Given the description of an element on the screen output the (x, y) to click on. 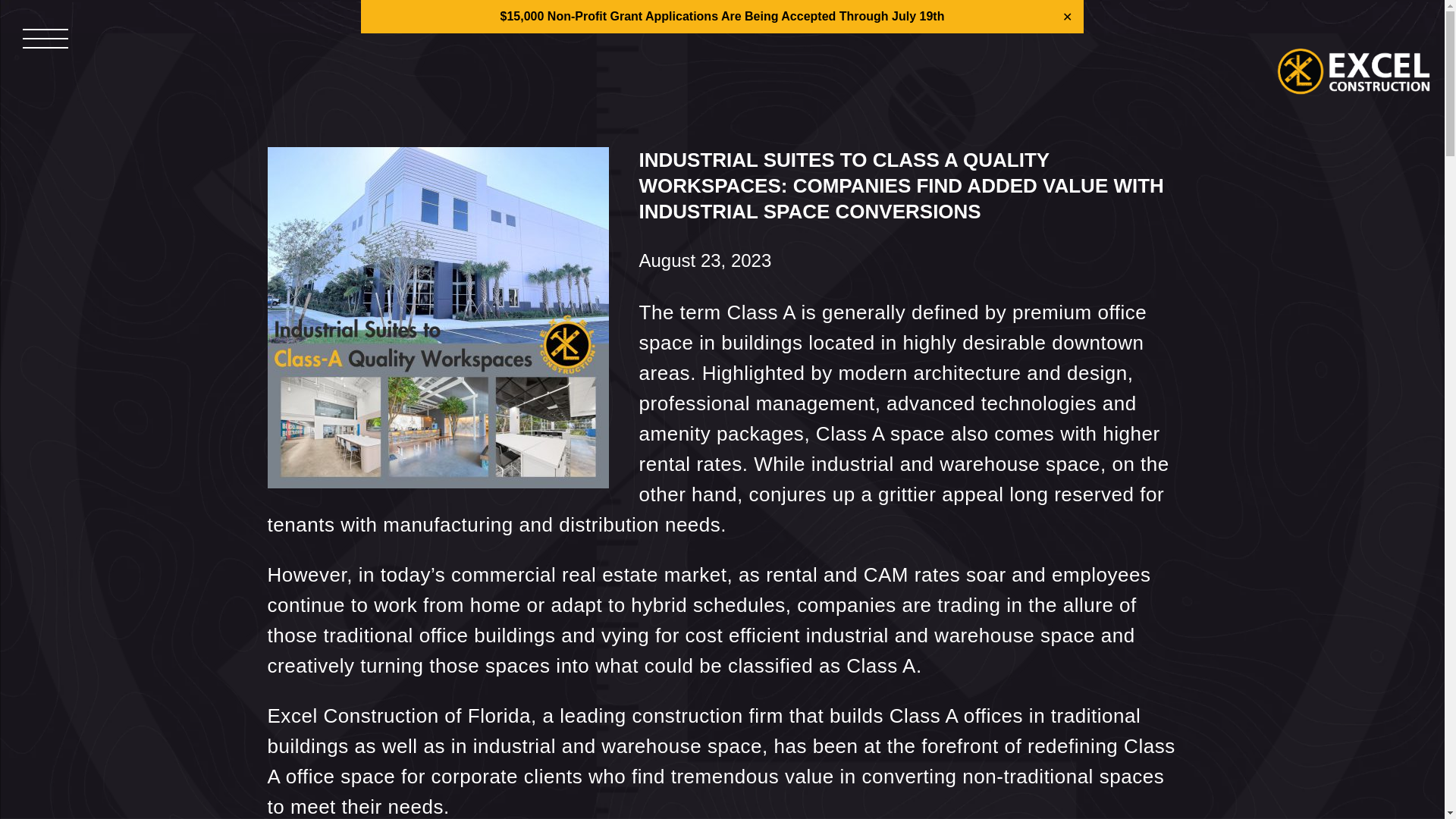
August 23, 2023 (721, 260)
